Given the description of an element on the screen output the (x, y) to click on. 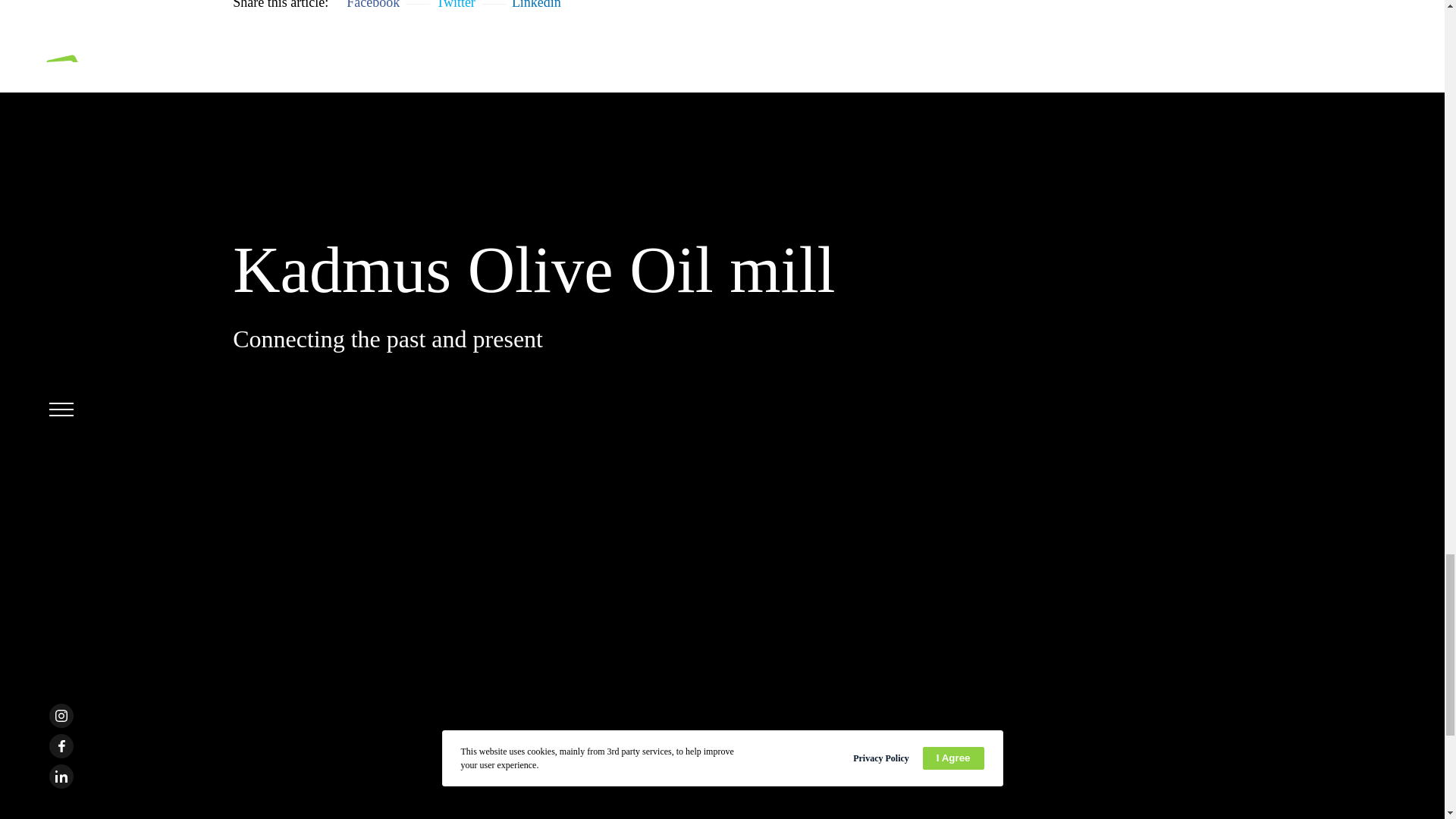
Hyperion Solar Community (536, 4)
Facebook (372, 4)
Hyperion Solar Community (372, 4)
Hyperion Solar Community (455, 4)
Linkedin (536, 4)
Twitter (455, 4)
